Given the description of an element on the screen output the (x, y) to click on. 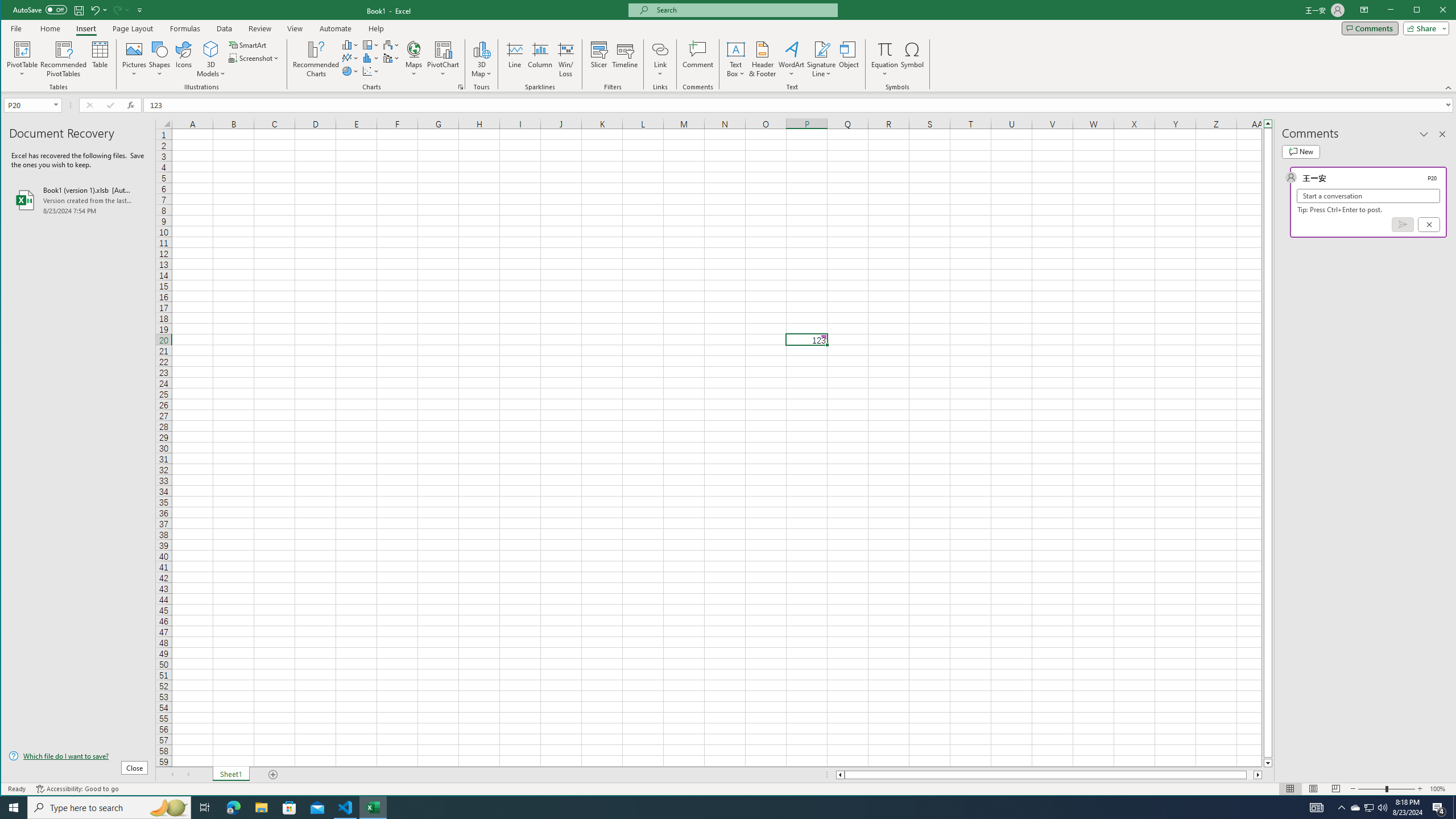
New comment (1300, 151)
Notification Chevron (1341, 807)
AutomationID: 4105 (1316, 807)
Equation (884, 59)
Draw Horizontal Text Box (735, 48)
Class: MsoCommandBar (728, 45)
Search highlights icon opens search home window (167, 807)
Signature Line (821, 48)
Action Center, 4 new notifications (1439, 807)
Start (13, 807)
Q2790: 100% (1382, 807)
